Given the description of an element on the screen output the (x, y) to click on. 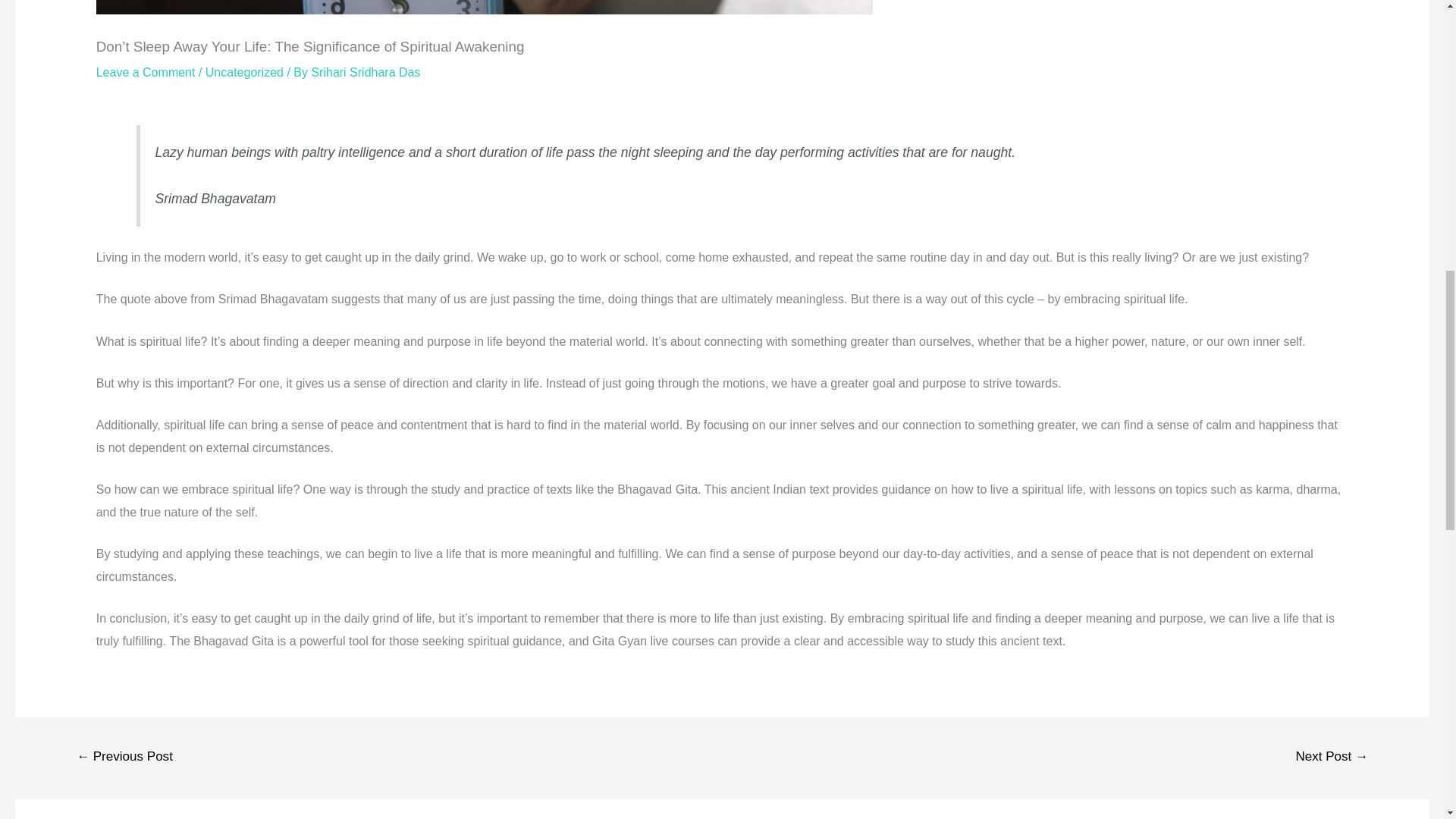
View all posts by Srihari Sridhara Das (365, 71)
Leave a Comment (145, 71)
Srihari Sridhara Das (365, 71)
Uncategorized (244, 71)
